Given the description of an element on the screen output the (x, y) to click on. 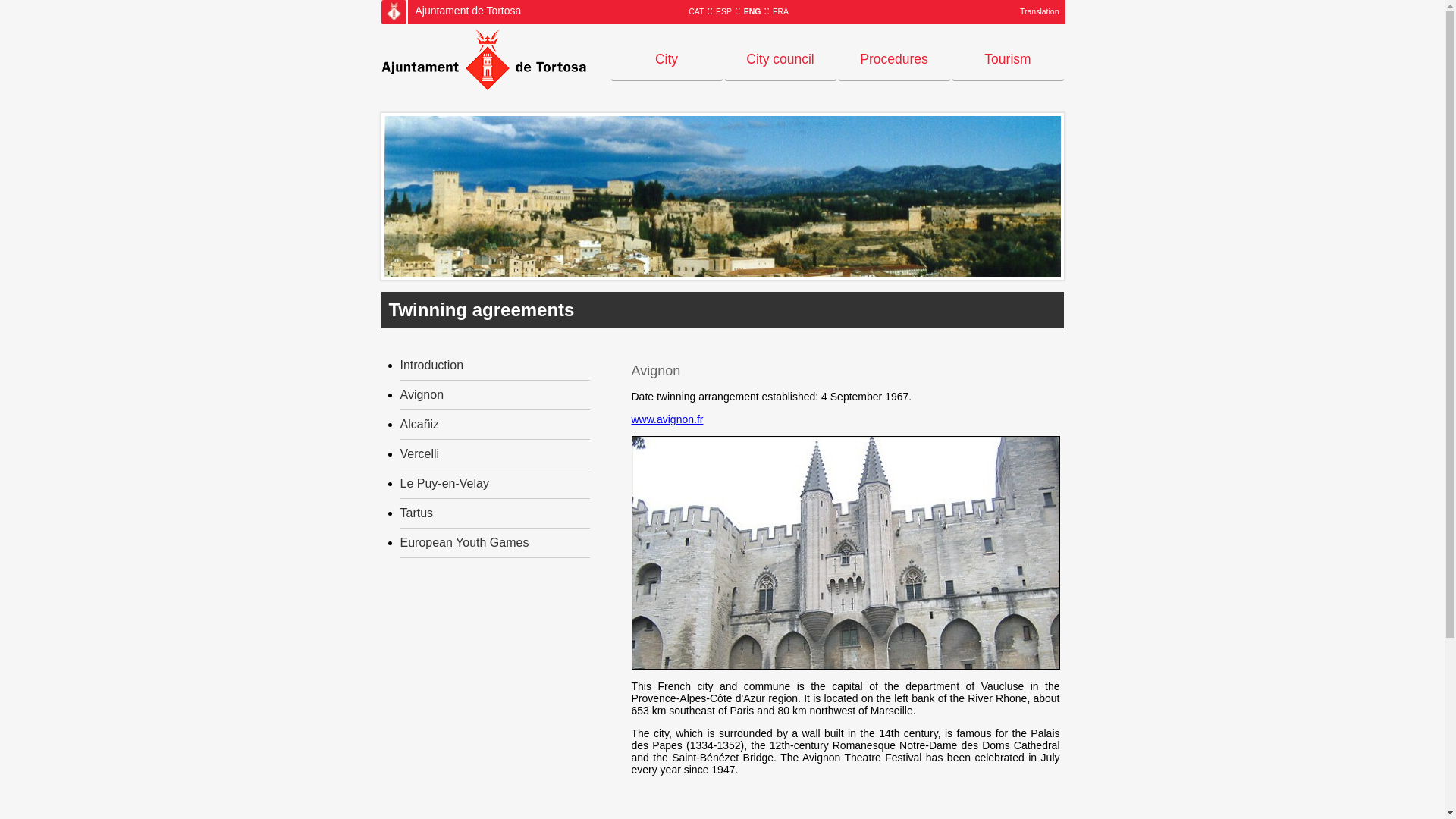
Ajuntament de Tortosa (394, 11)
Le Puy-en-Velay (444, 482)
www.avignon.fr (666, 419)
ENG (752, 10)
City council (780, 61)
CAT (695, 10)
ESP (724, 10)
European Youth Games (464, 542)
FRA (781, 10)
Tourism (1008, 61)
Procedures (894, 61)
Vercelli (419, 453)
City (666, 61)
Introduction (432, 364)
Tartus (416, 512)
